Given the description of an element on the screen output the (x, y) to click on. 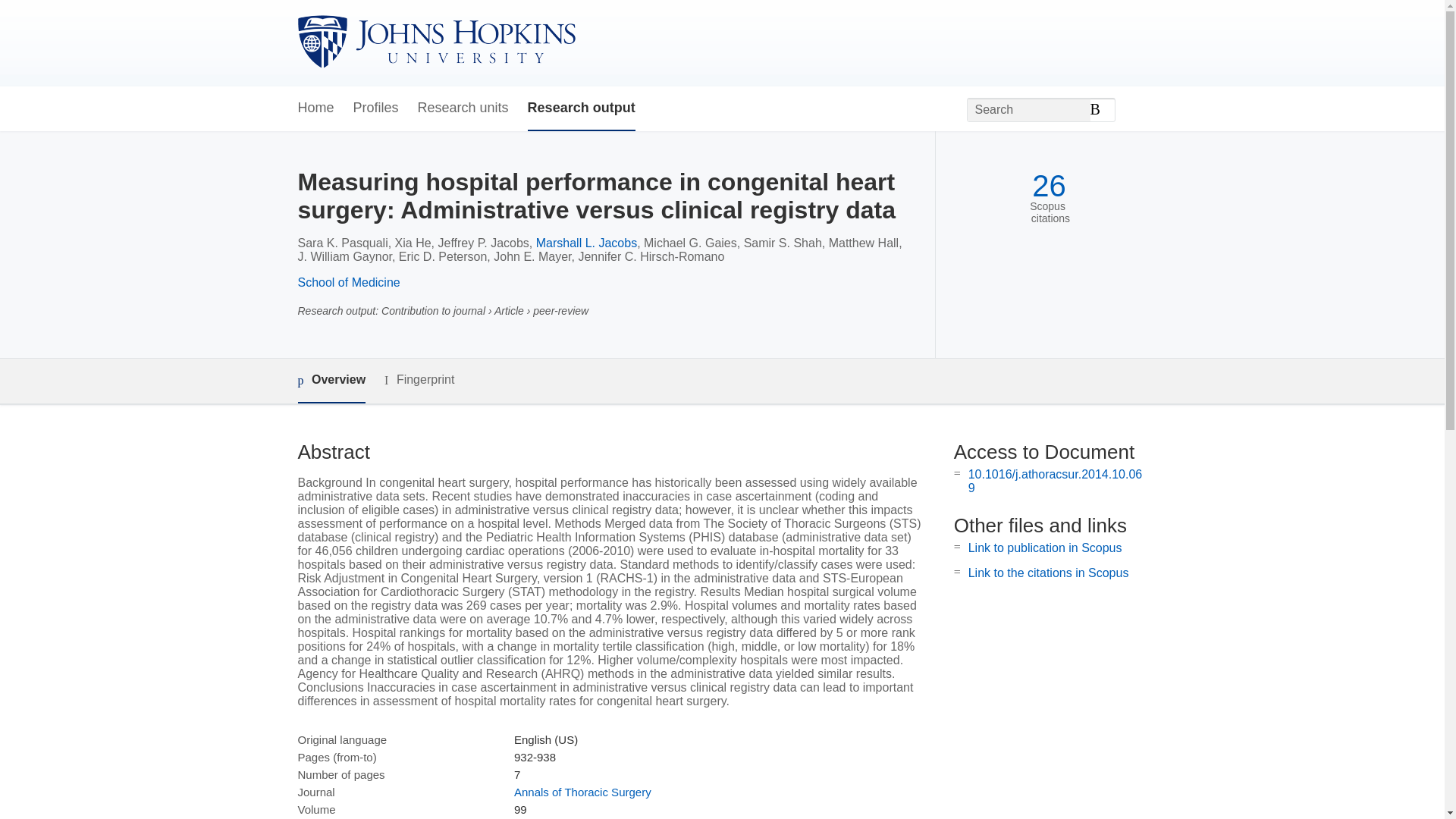
School of Medicine (347, 282)
Johns Hopkins University Home (436, 43)
Link to the citations in Scopus (1048, 572)
Link to publication in Scopus (1045, 547)
Research units (462, 108)
Annals of Thoracic Surgery (581, 791)
Overview (331, 380)
Profiles (375, 108)
Fingerprint (419, 380)
26 (1048, 185)
Marshall L. Jacobs (586, 242)
Research output (580, 108)
